Given the description of an element on the screen output the (x, y) to click on. 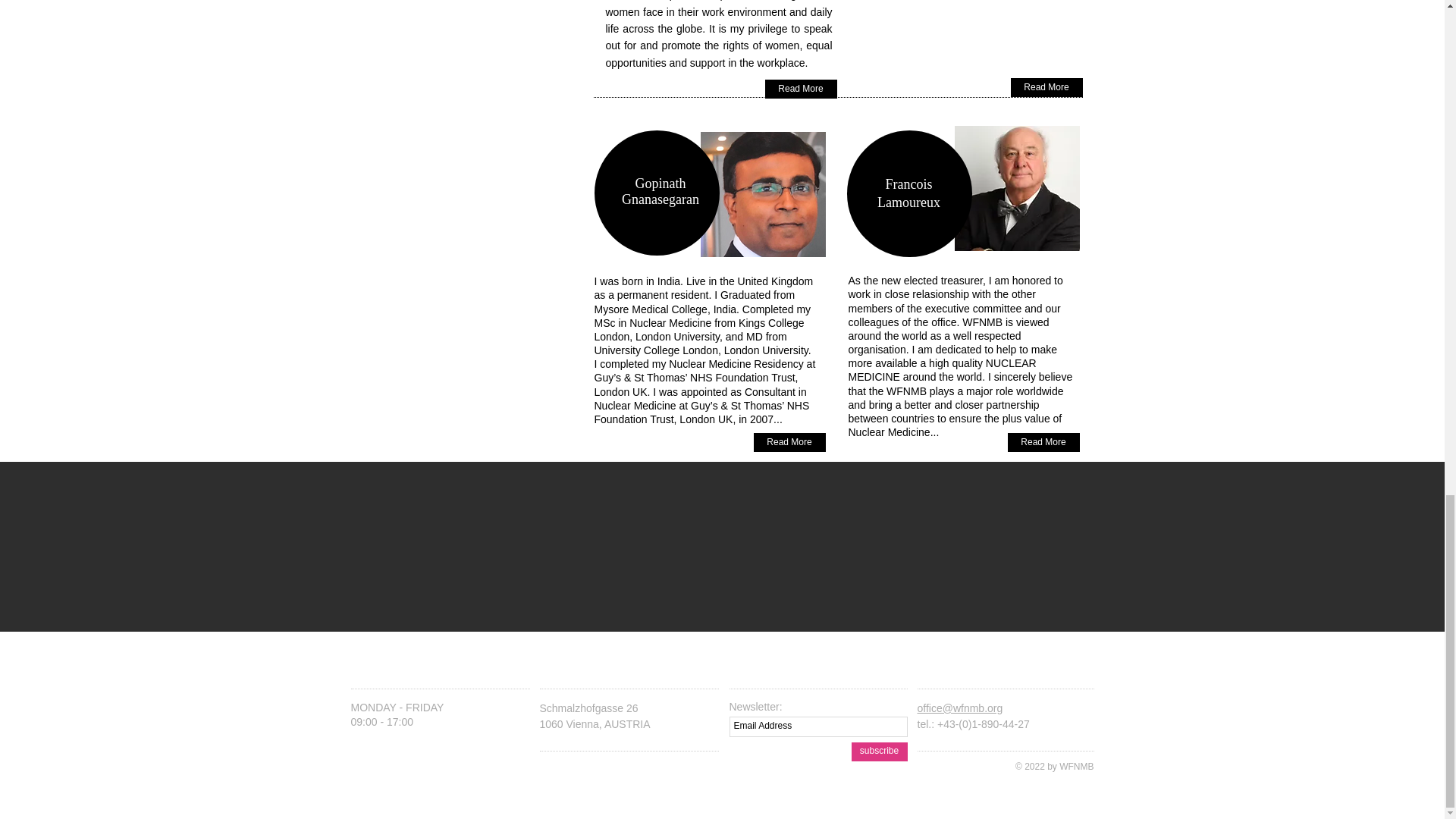
Read More (1042, 442)
Read More (1045, 87)
subscribe (878, 751)
Read the CV here (894, 0)
Read More (799, 88)
Read More (789, 442)
